Given the description of an element on the screen output the (x, y) to click on. 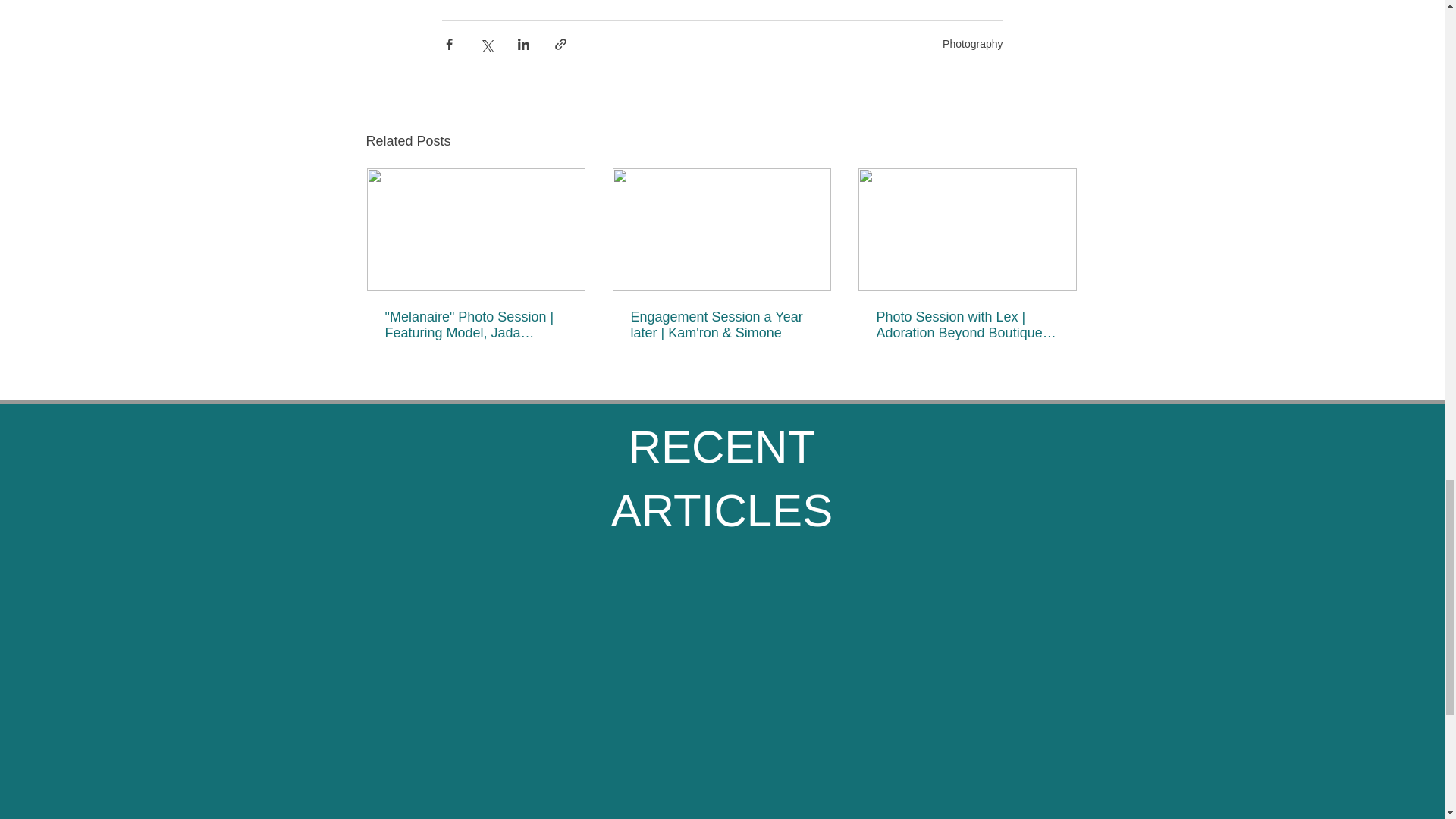
Photography (972, 43)
